Given the description of an element on the screen output the (x, y) to click on. 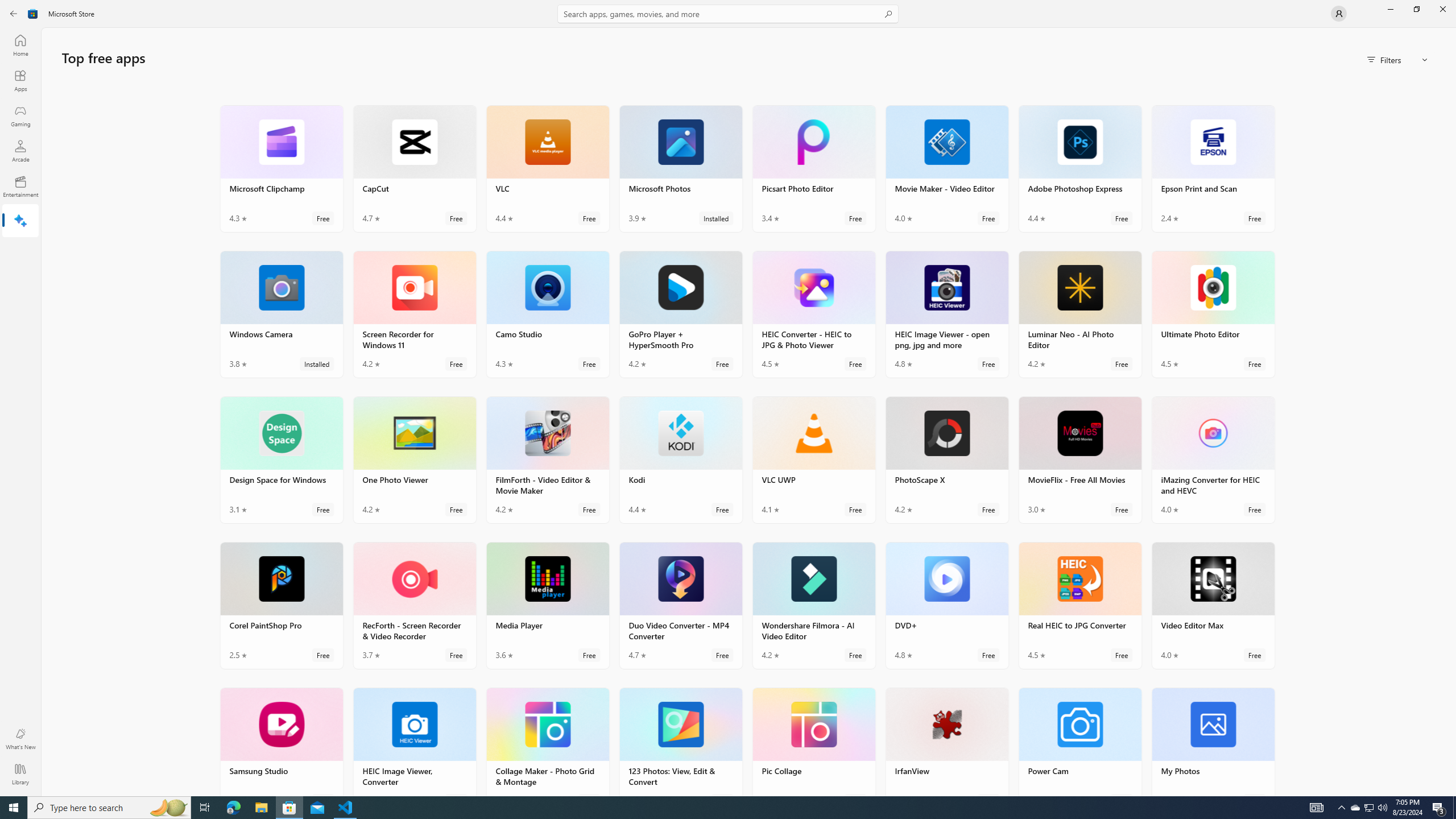
Pic Collage. Average rating of 4.8 out of five stars. Free   (813, 741)
Search (727, 13)
CapCut. Average rating of 4.7 out of five stars. Free   (414, 167)
